Given the description of an element on the screen output the (x, y) to click on. 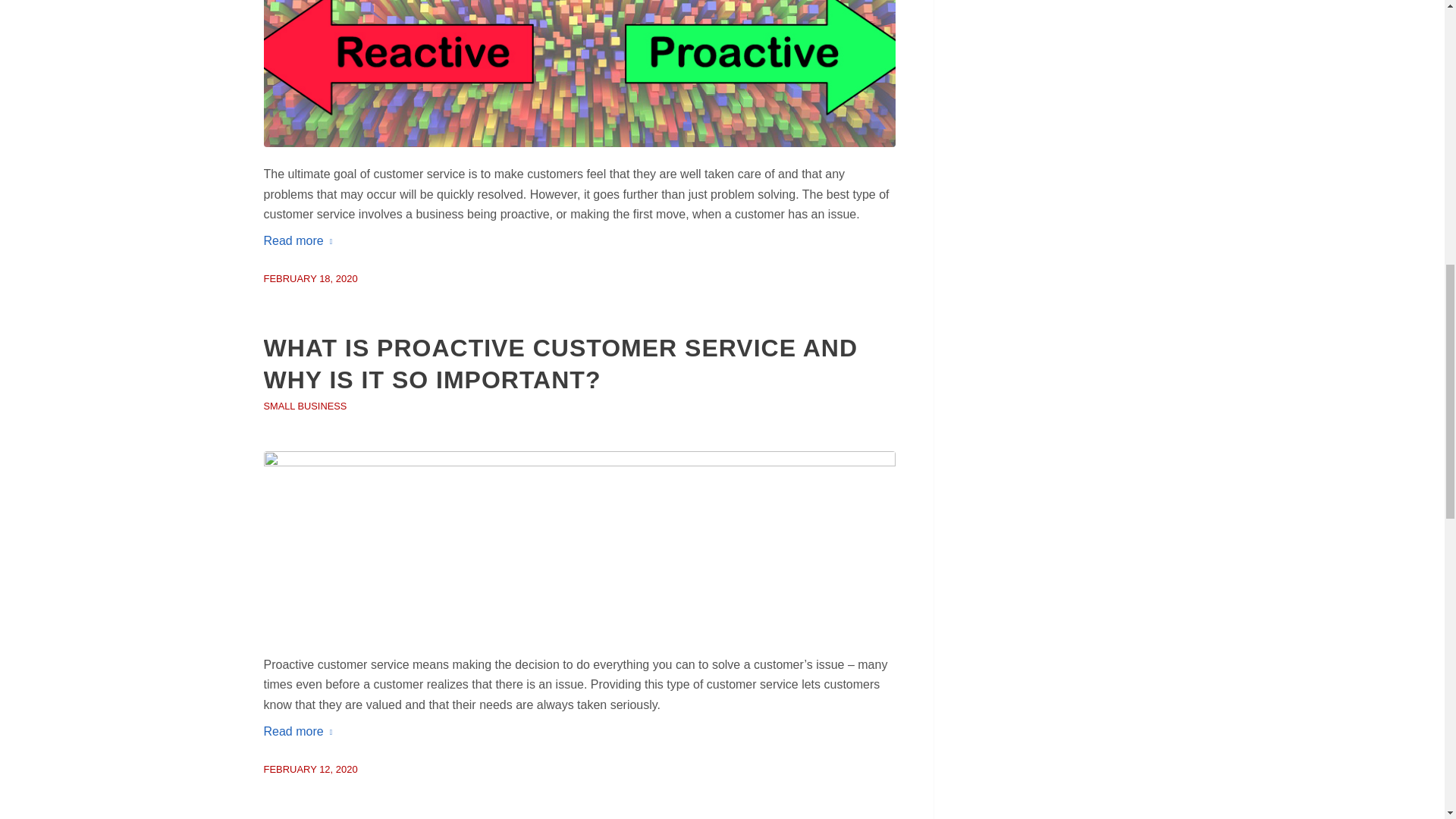
fivestars (579, 544)
Read more (301, 731)
proactive (579, 73)
Read more (301, 240)
SMALL BUSINESS (305, 405)
